Given the description of an element on the screen output the (x, y) to click on. 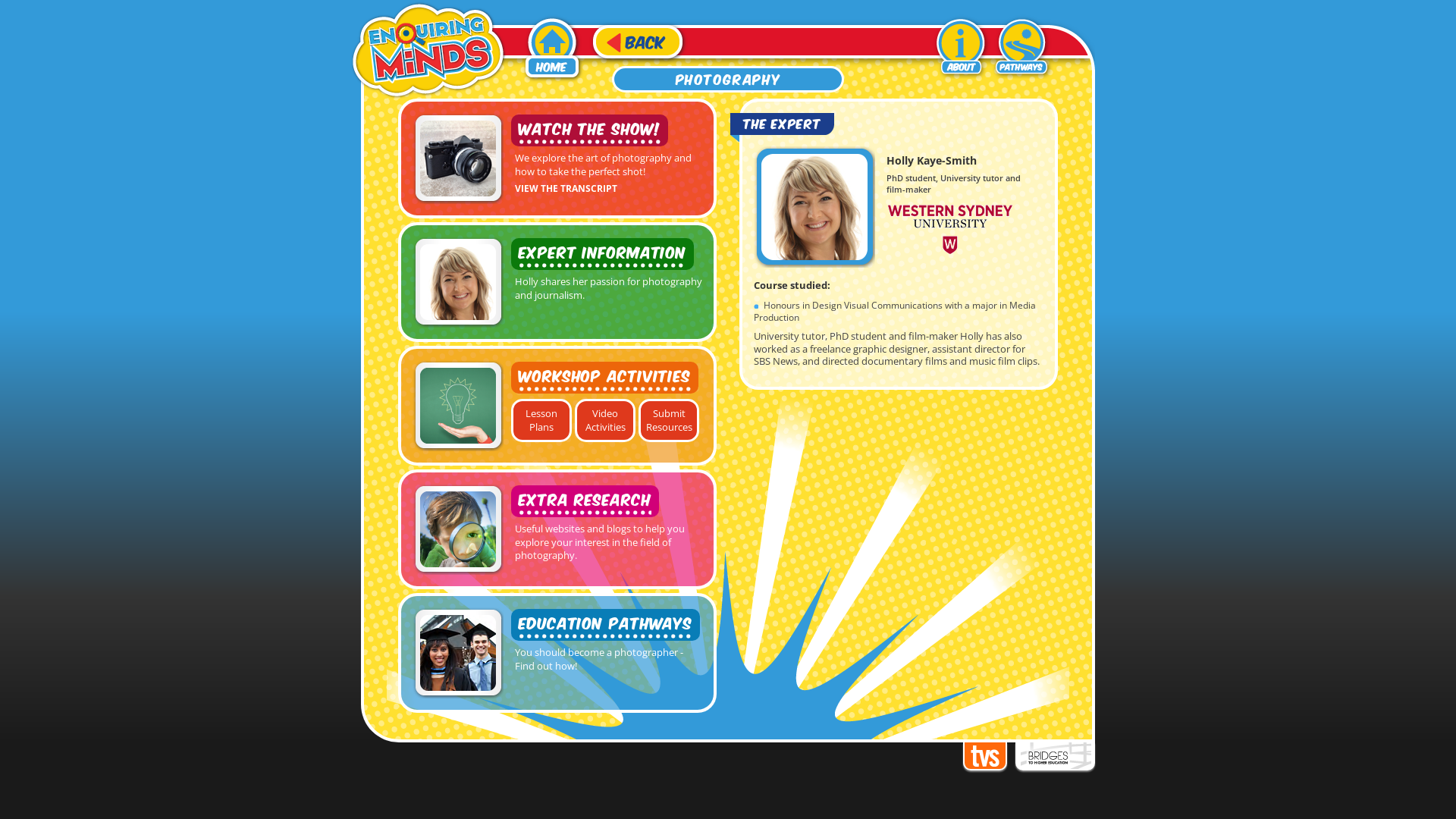
em_exprt-pic_phtgrphy_kayesmith_100x100 Element type: hover (457, 281)
EDUCATION PATHWAYS Element type: text (605, 624)
WATCH THE SHOW! Element type: text (589, 130)
photography-100x100 Element type: hover (457, 157)
EXTRA RESEARCH Element type: text (584, 501)
EXPERT INFORMATION Element type: text (602, 253)
WSU-Trans_Logo-56px Element type: hover (949, 228)
WORKSHOP ACTIVITIES Element type: text (604, 377)
Holly Kaye-Smith Element type: hover (814, 206)
VIEW THE TRANSCRIPT Element type: text (565, 186)
Submit
Resources Element type: text (668, 420)
Lesson
Plans Element type: text (541, 420)
Video
Activities Element type: text (604, 420)
